Given the description of an element on the screen output the (x, y) to click on. 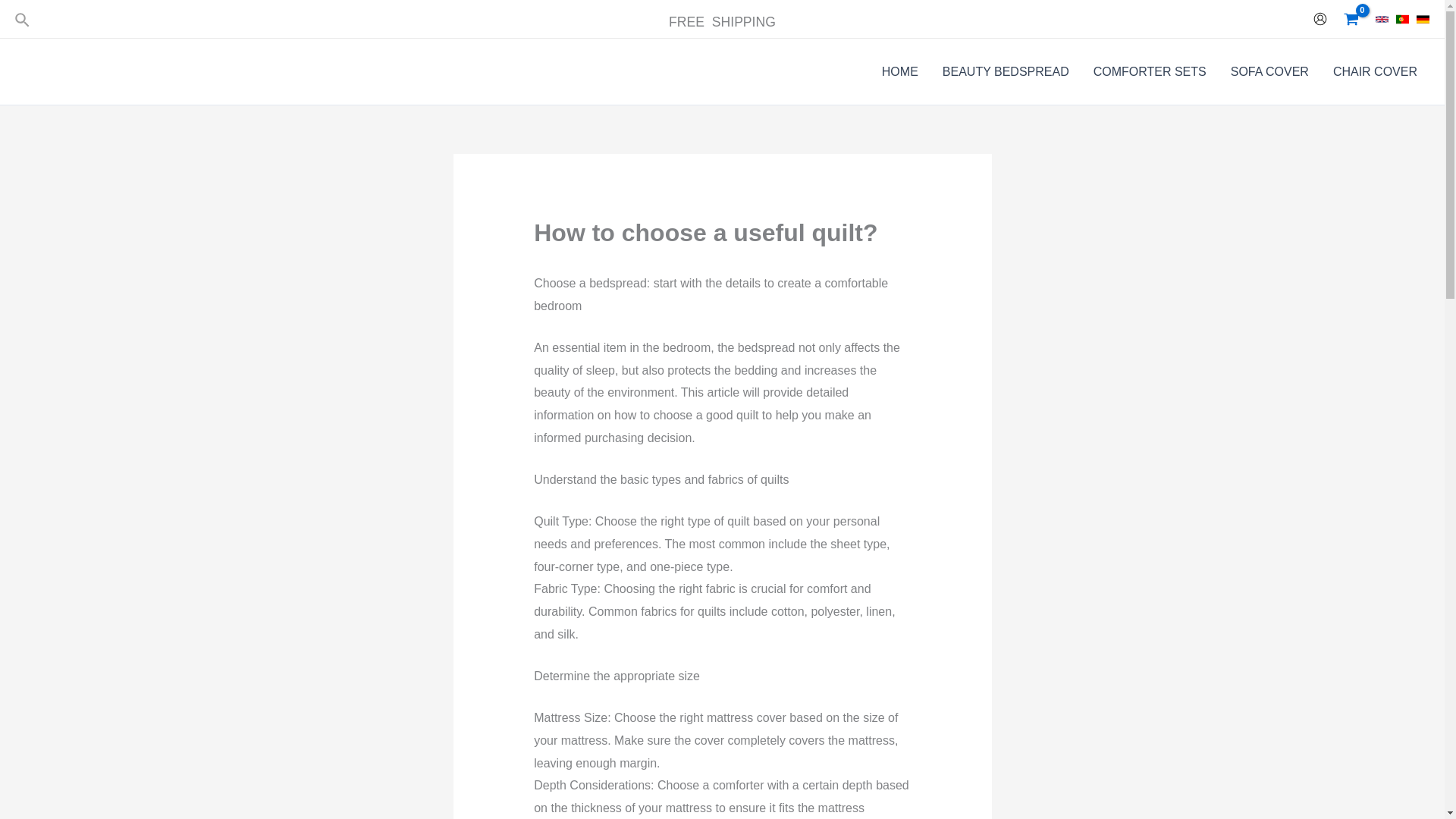
SOFA COVER (1269, 70)
BEAUTY BEDSPREAD (1005, 70)
CHAIR COVER (1374, 70)
Flag of Germany (1422, 18)
HOME (899, 70)
Flag of Germany (1422, 18)
COMFORTER SETS (1149, 70)
